Given the description of an element on the screen output the (x, y) to click on. 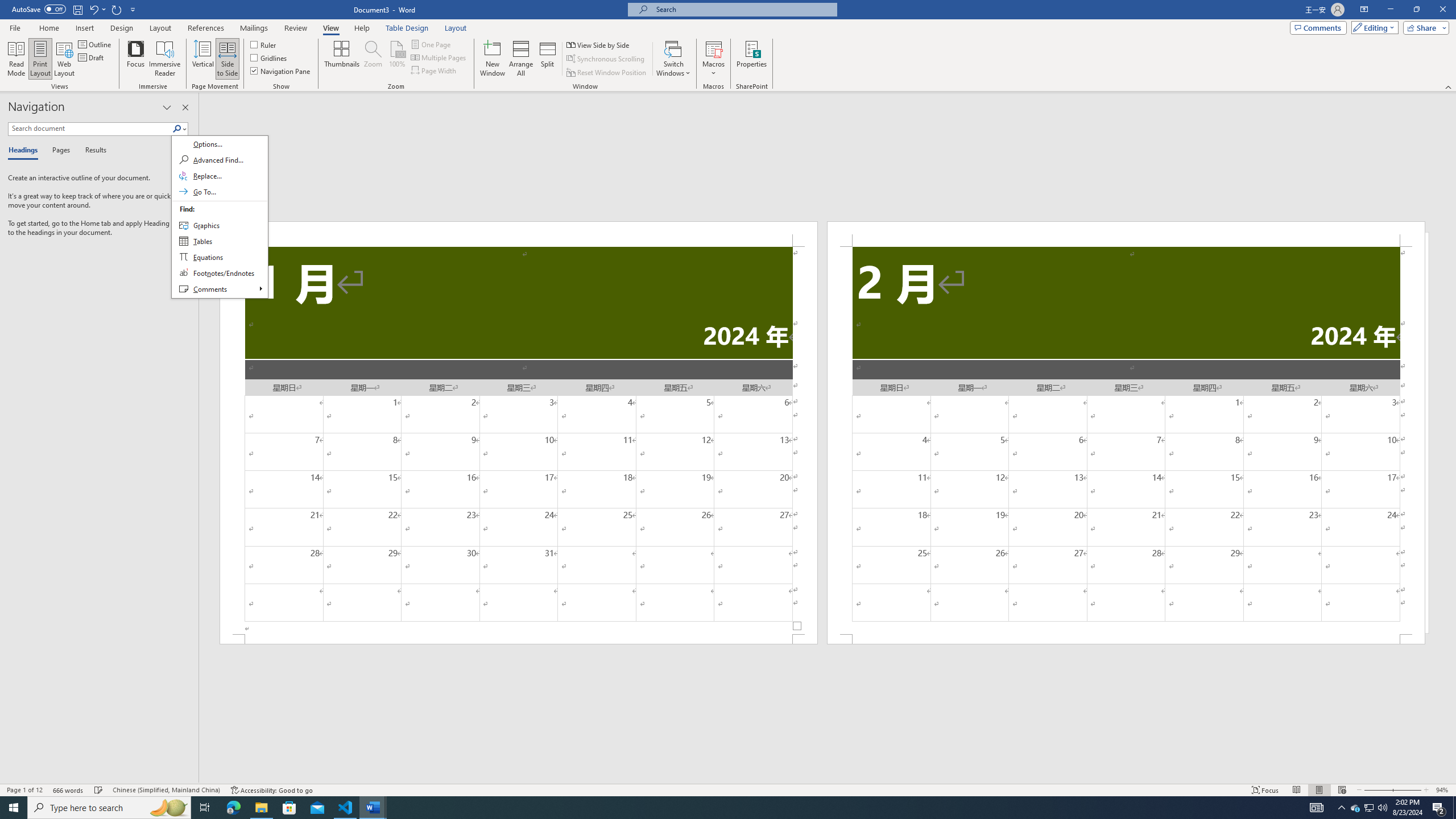
Switch Windows (673, 58)
Notification Chevron (1341, 807)
Zoom Out (1377, 790)
Word Count 666 words (68, 790)
Restore Down (1416, 9)
Vertical (202, 58)
Focus  (1265, 790)
View Macros (713, 48)
View (330, 28)
Read Mode (1296, 790)
Action Center, 2 new notifications (1439, 807)
Mailings (253, 28)
